Given the description of an element on the screen output the (x, y) to click on. 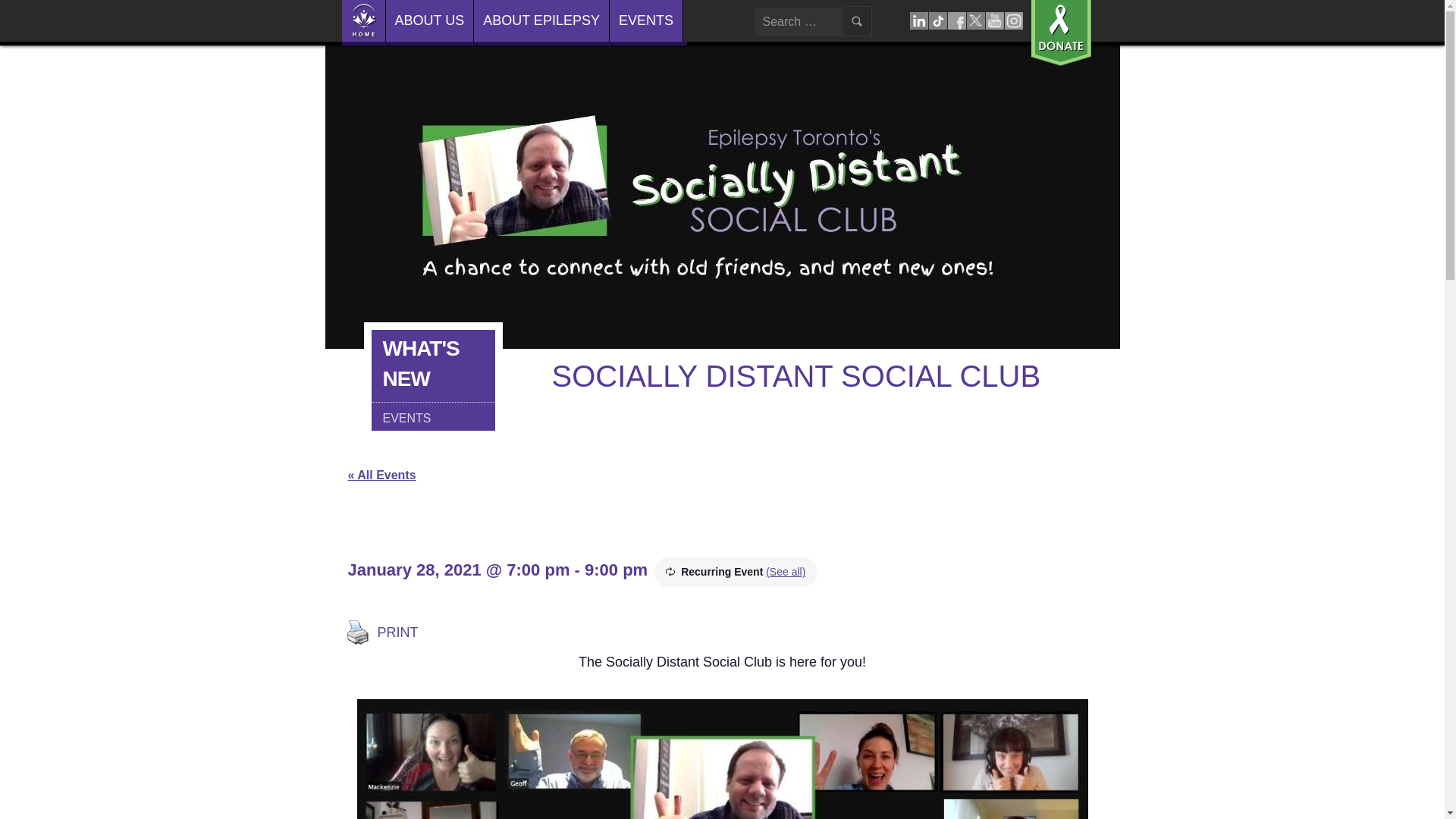
Print Content (356, 632)
Home (362, 22)
HOME (362, 22)
ABOUT US (429, 22)
Epilepsy Toronto (405, 17)
ABOUT EPILEPSY (542, 22)
